Given the description of an element on the screen output the (x, y) to click on. 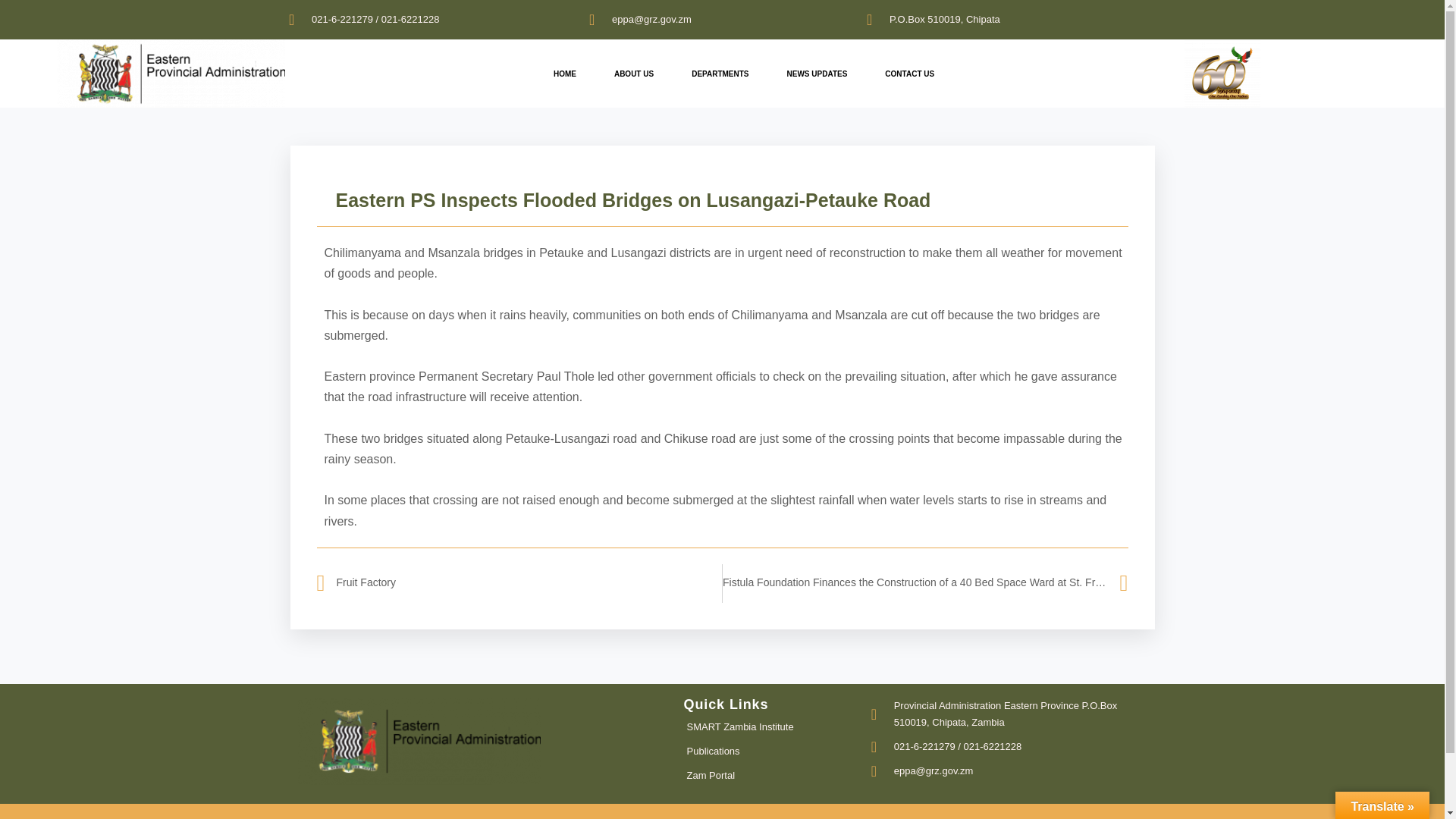
eastern provincial administration (171, 73)
Publications (771, 751)
Fruit Factory (519, 583)
DEPARTMENTS (719, 73)
NEWS UPDATES (817, 73)
CONTACT US (909, 73)
HOME (564, 73)
SMART Zambia Institute (771, 727)
Zam Portal (771, 775)
ABOUT US (633, 73)
